Given the description of an element on the screen output the (x, y) to click on. 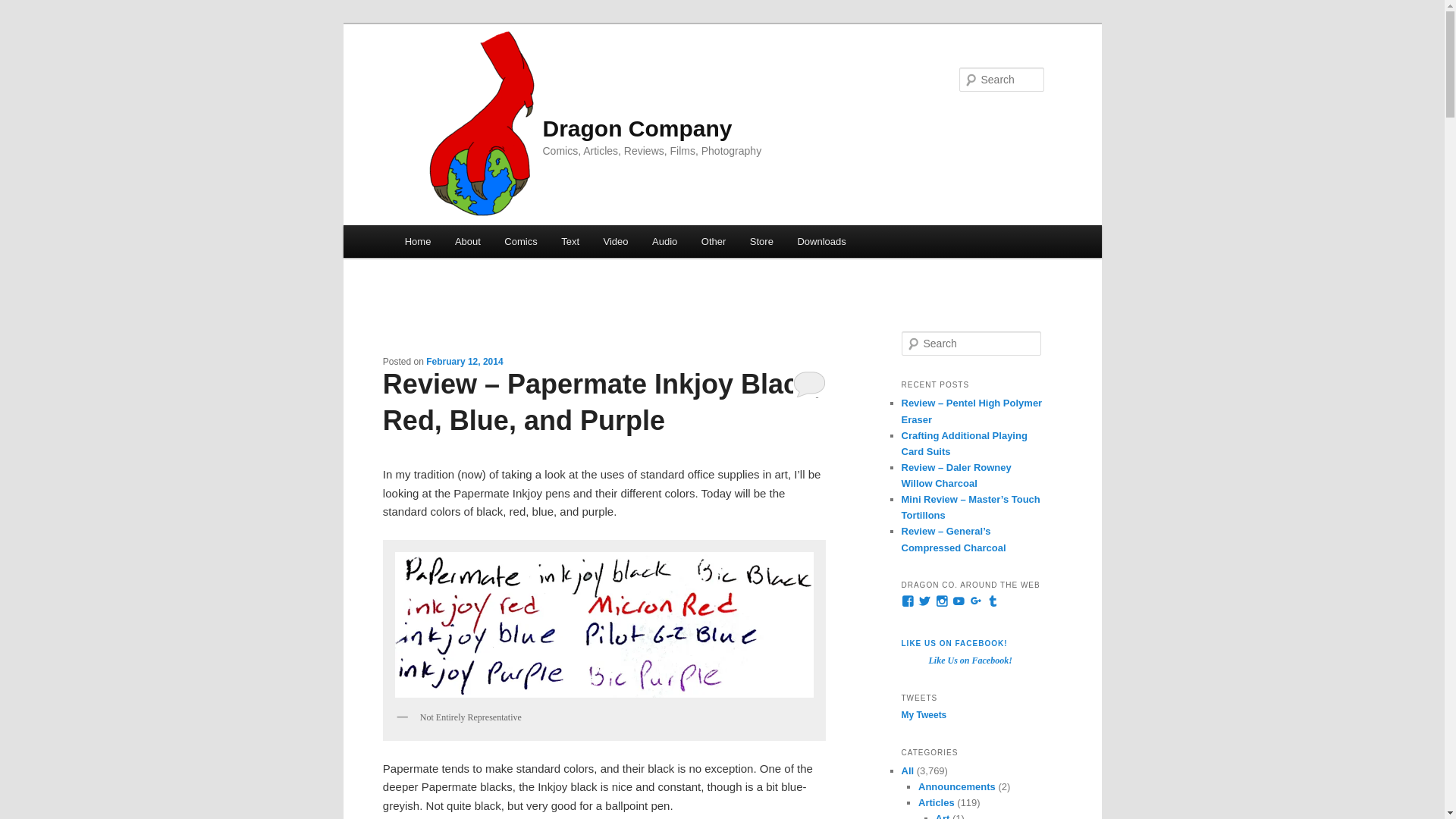
Comics (521, 241)
Search (24, 8)
Dragon Company (637, 128)
Text (569, 241)
Video (615, 241)
Audio (664, 241)
About (467, 241)
7:38 AM (464, 361)
Dragon Company (637, 128)
